Given the description of an element on the screen output the (x, y) to click on. 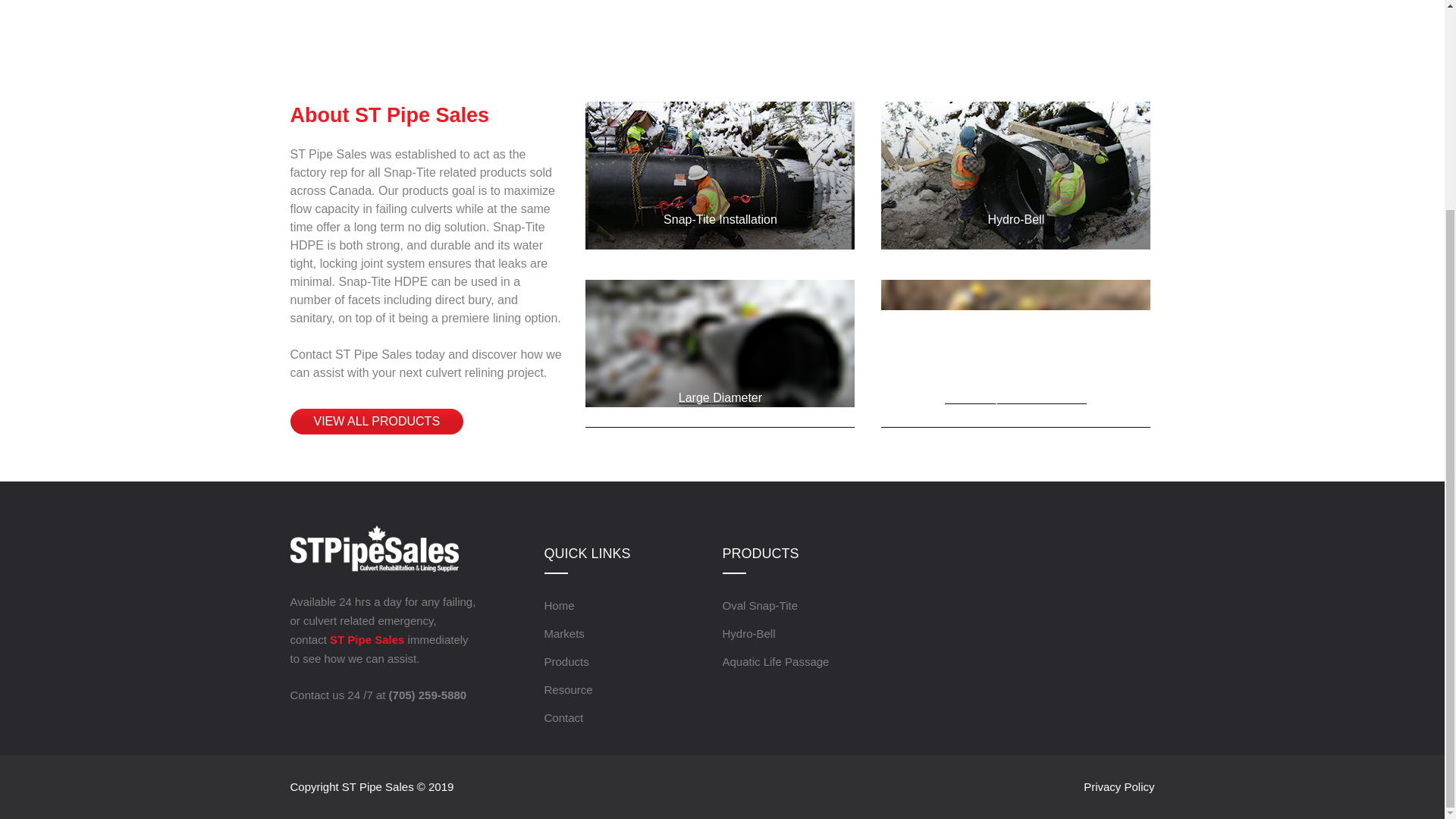
Markets (564, 633)
Snap-Tite Installation (720, 219)
Hydro-Bell (1016, 219)
Hydro-Bell (748, 633)
Privacy Policy (1114, 786)
Resource (568, 689)
Home (559, 604)
Large Diameter (719, 397)
Contact (563, 717)
VIEW ALL PRODUCTS (376, 421)
Oval Snap-Tite Installation (1015, 397)
Aquatic Life Passage (775, 661)
Products (566, 661)
Oval Snap-Tite (759, 604)
